Given the description of an element on the screen output the (x, y) to click on. 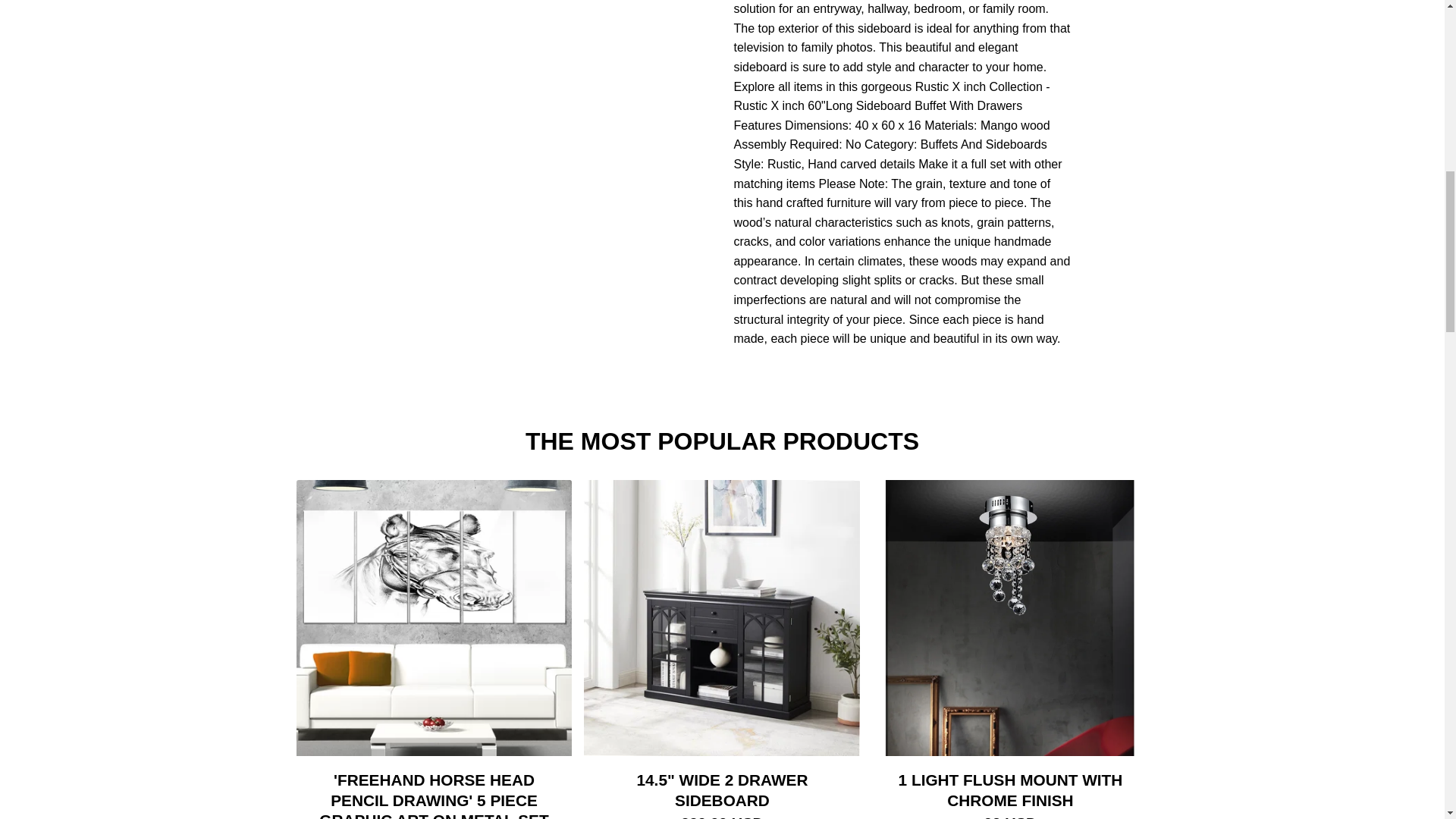
1 LIGHT FLUSH MOUNT WITH CHROME FINISH (1010, 790)
14.5" WIDE 2 DRAWER SIDEBOARD (722, 790)
